Given the description of an element on the screen output the (x, y) to click on. 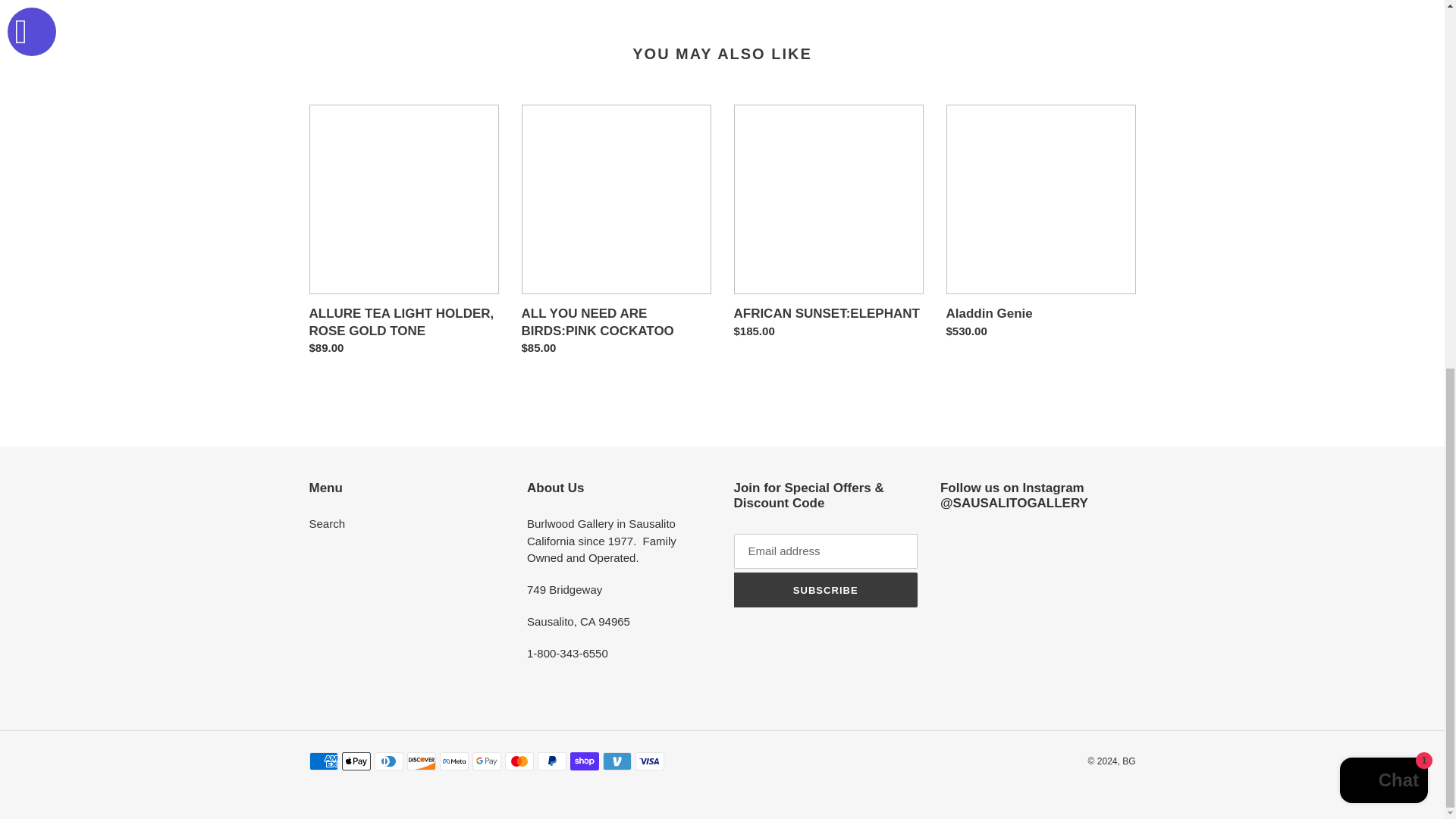
Shopify online store chat (1383, 115)
